Given the description of an element on the screen output the (x, y) to click on. 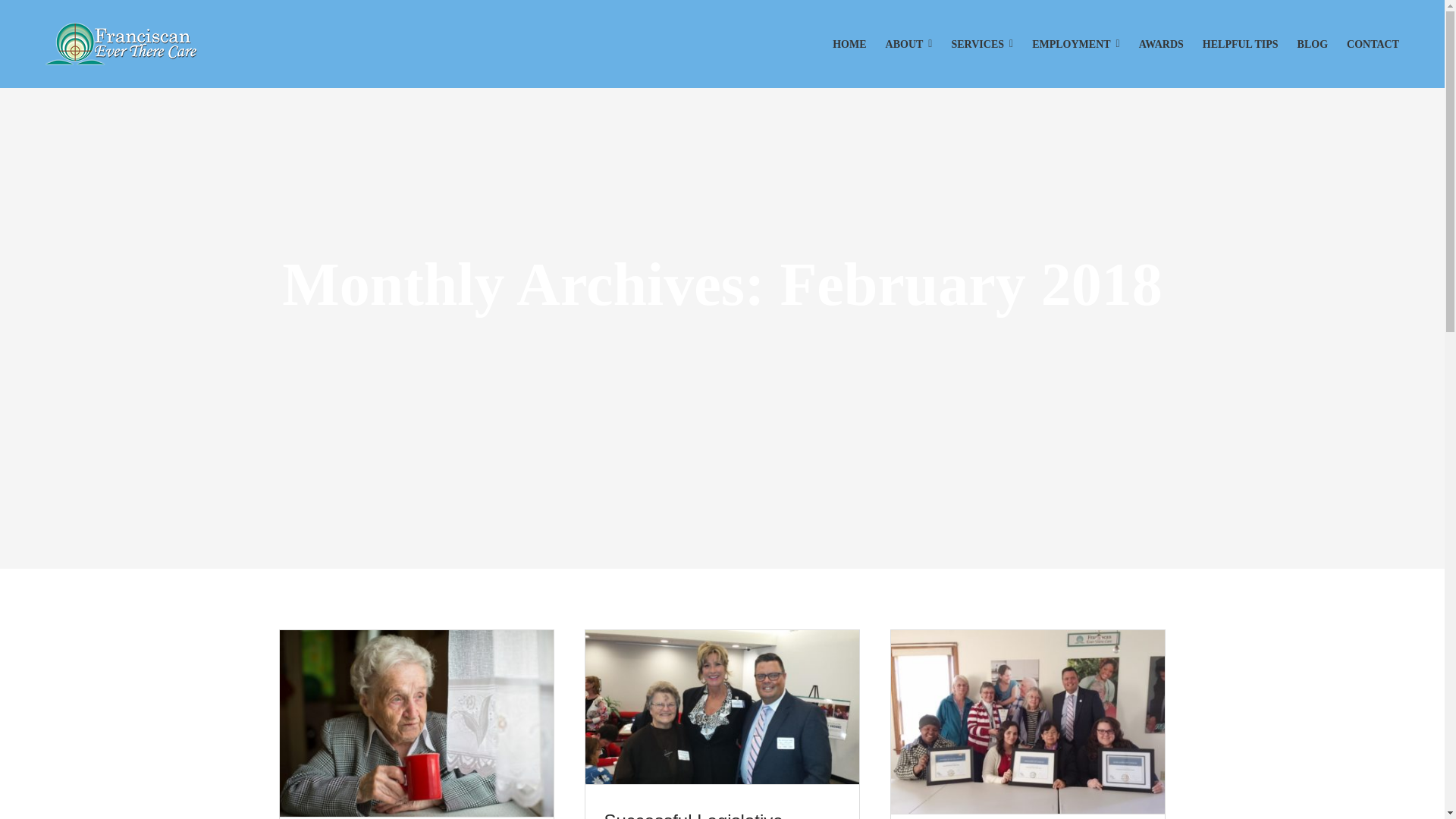
HELPFUL TIPS (1240, 43)
Successful Legislative Breakfast (693, 814)
CONTACT (1372, 43)
ABOUT (909, 43)
SERVICES (981, 43)
AWARDS (1160, 43)
EMPLOYMENT (1075, 43)
